Given the description of an element on the screen output the (x, y) to click on. 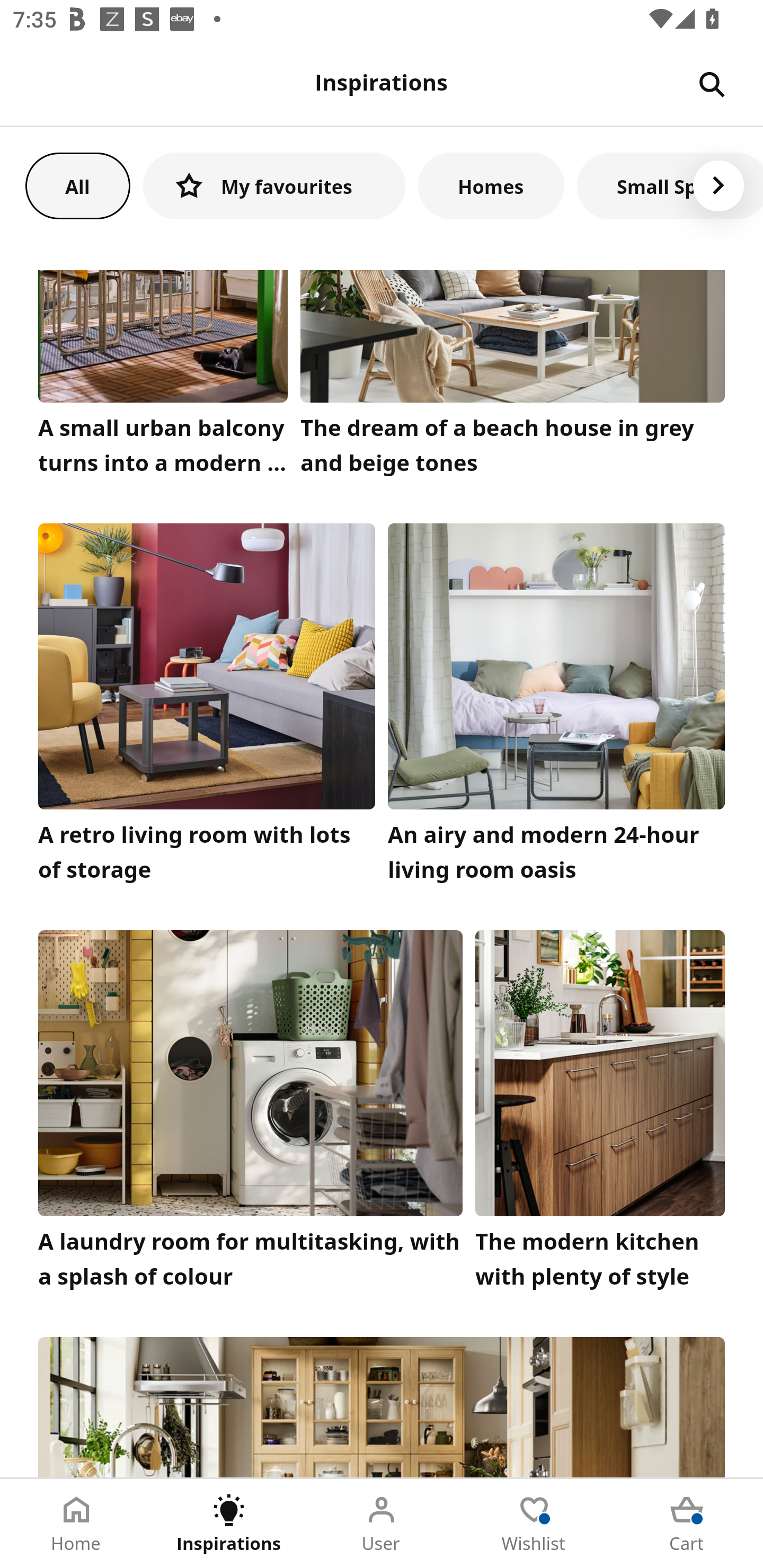
All (77, 185)
My favourites (274, 185)
Homes (491, 185)
The dream of a beach house in grey and beige tones (512, 376)
A retro living room with lots of storage (206, 707)
An airy and modern 24-hour living room oasis (555, 707)
The modern kitchen with plenty of style (599, 1113)
Home
Tab 1 of 5 (76, 1522)
Inspirations
Tab 2 of 5 (228, 1522)
User
Tab 3 of 5 (381, 1522)
Wishlist
Tab 4 of 5 (533, 1522)
Cart
Tab 5 of 5 (686, 1522)
